Given the description of an element on the screen output the (x, y) to click on. 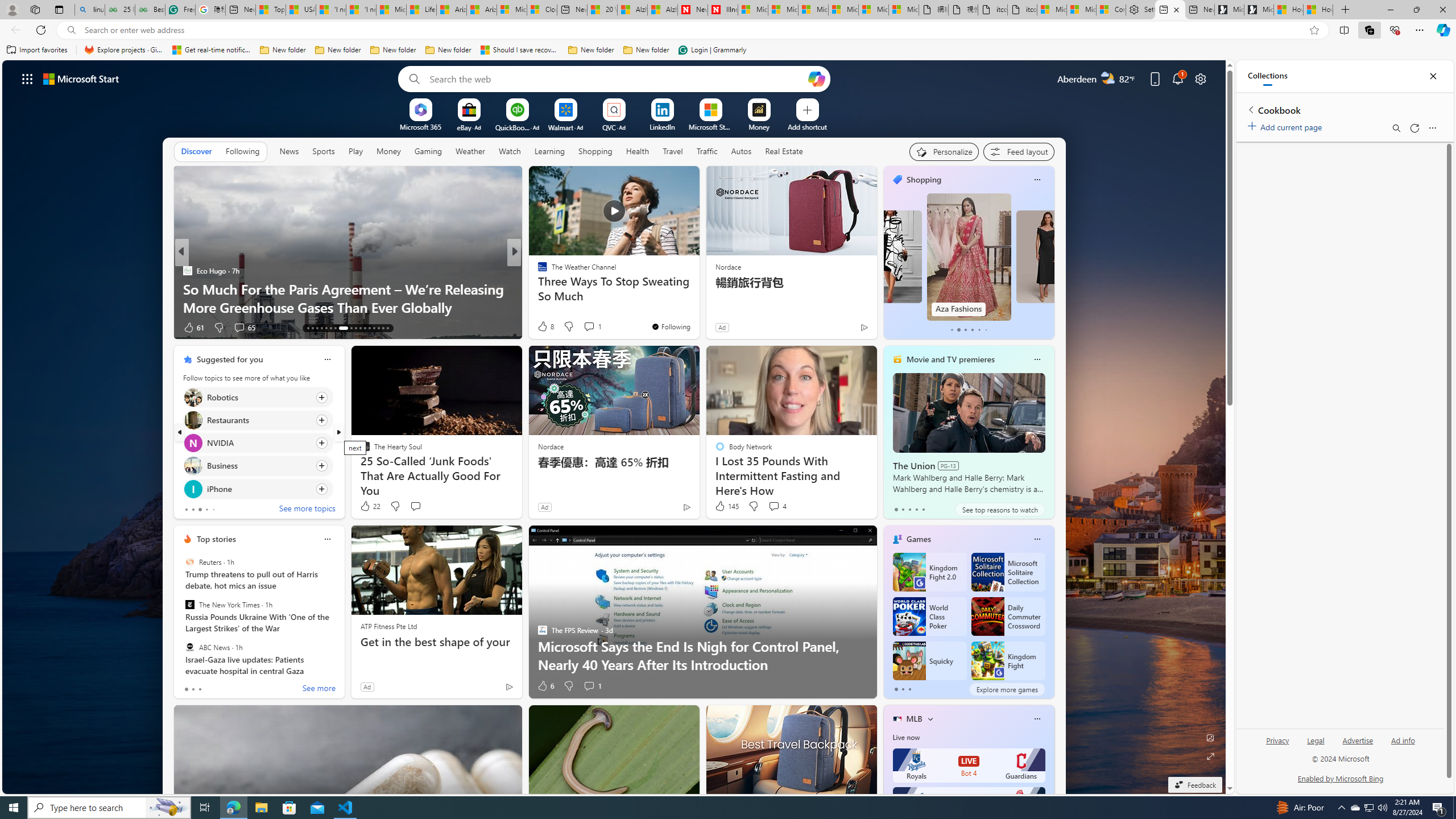
The Manual (537, 270)
Games (917, 538)
25 Basic Linux Commands For Beginners - GeeksforGeeks (119, 9)
Movie and TV premieres (949, 359)
AutomationID: tab-13 (307, 328)
Get in the best shape of your (435, 641)
Click to follow topic Robotics (257, 397)
See more topics (306, 509)
Autos (740, 151)
